Given the description of an element on the screen output the (x, y) to click on. 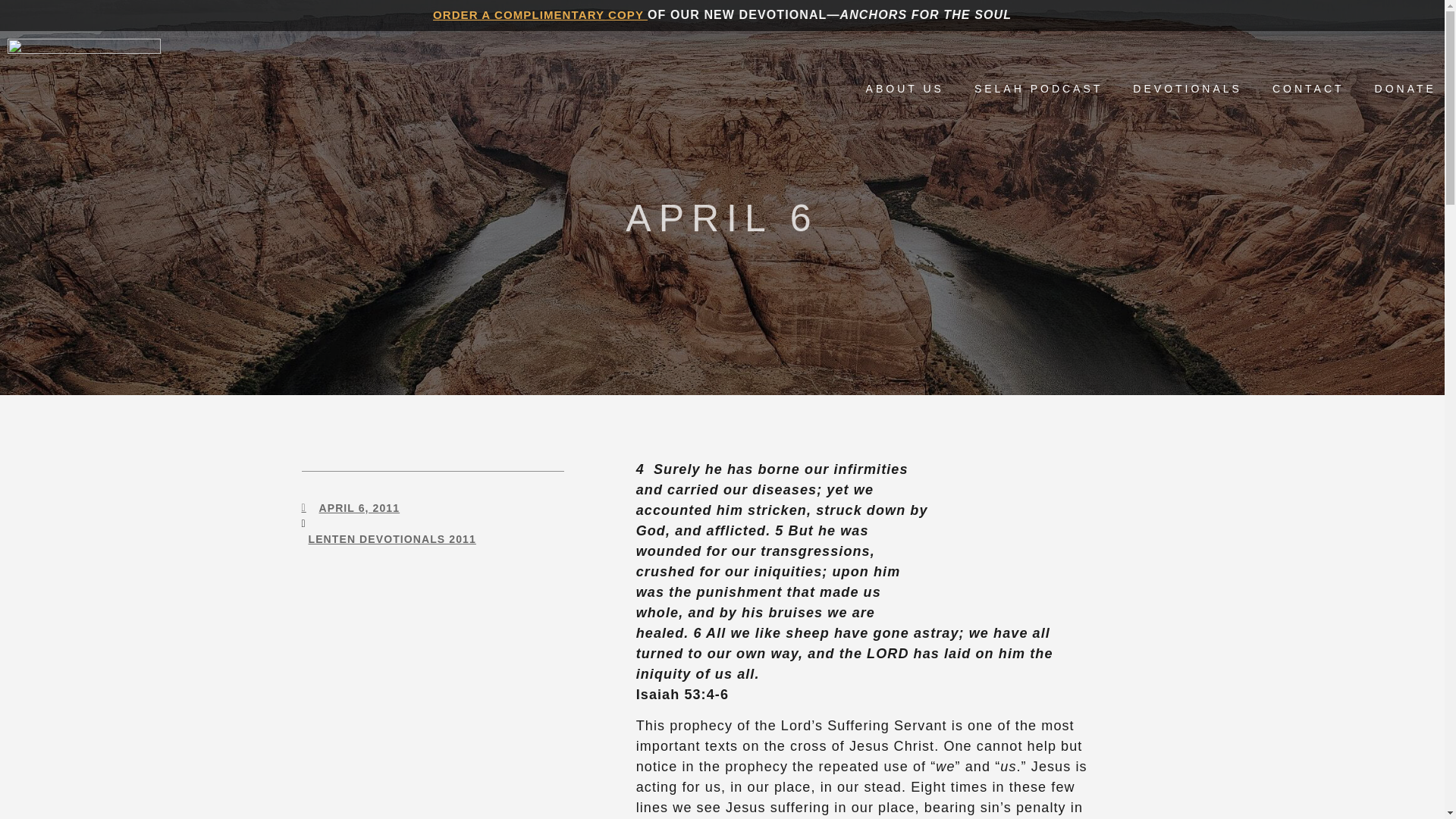
ORDER A COMPLIMENTARY COPY (539, 14)
SELAH PODCAST (1038, 87)
ABOUT US (904, 87)
DEVOTIONALS (1186, 87)
cross (1017, 532)
CONTACT (1307, 87)
